Given the description of an element on the screen output the (x, y) to click on. 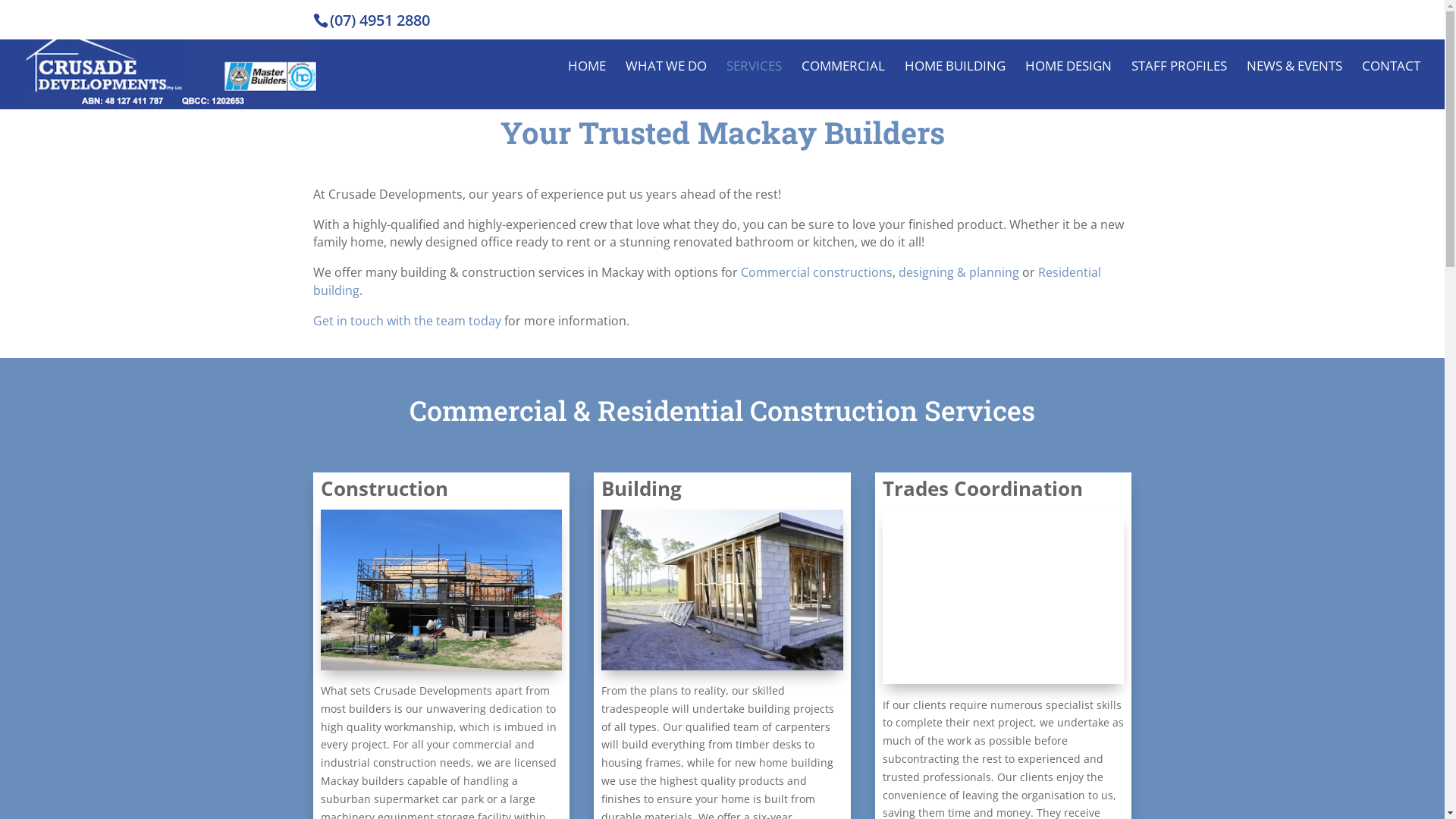
HOME Element type: text (586, 84)
Commercial constructions Element type: text (815, 271)
web_crusade-developments-pty-ltd_bf981b325a Element type: hover (440, 589)
NEWS & EVENTS Element type: text (1294, 84)
builders-mackay-crusade Element type: hover (1002, 596)
CONTACT Element type: text (1390, 84)
STAFF PROFILES Element type: text (1178, 84)
Residential building Element type: text (706, 280)
HOME BUILDING Element type: text (954, 84)
HOME DESIGN Element type: text (1068, 84)
COMMERCIAL Element type: text (842, 84)
web_crusade-developments-pty-ltd_09acee406d Element type: hover (721, 589)
SERVICES Element type: text (753, 84)
WHAT WE DO Element type: text (665, 84)
Get in touch with the team today Element type: text (406, 320)
designing & planning Element type: text (957, 271)
